Given the description of an element on the screen output the (x, y) to click on. 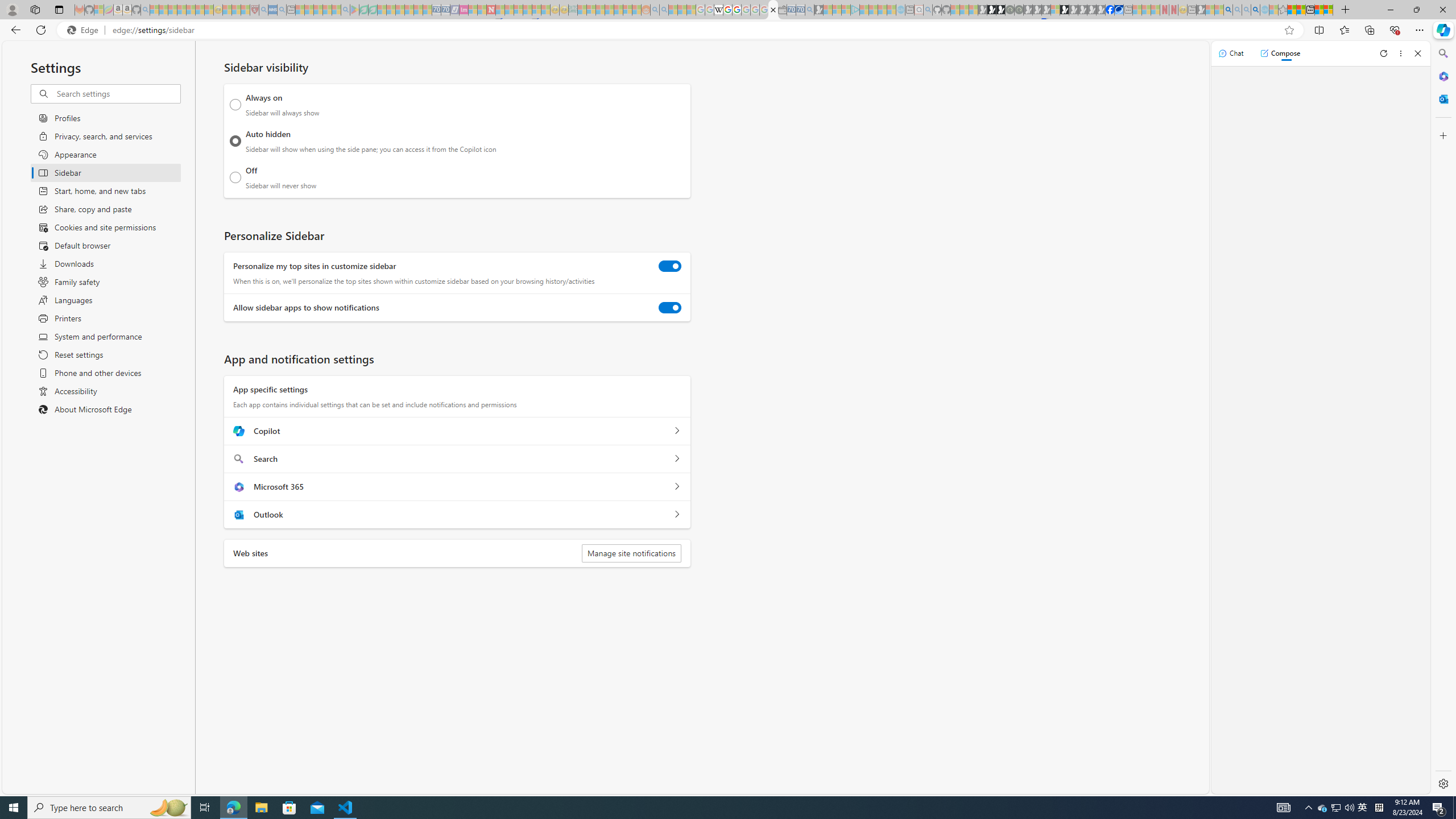
Personalize my top sites in customize sidebar (669, 265)
Privacy Help Center - Policies Help (726, 9)
Chat (1230, 52)
